Given the description of an element on the screen output the (x, y) to click on. 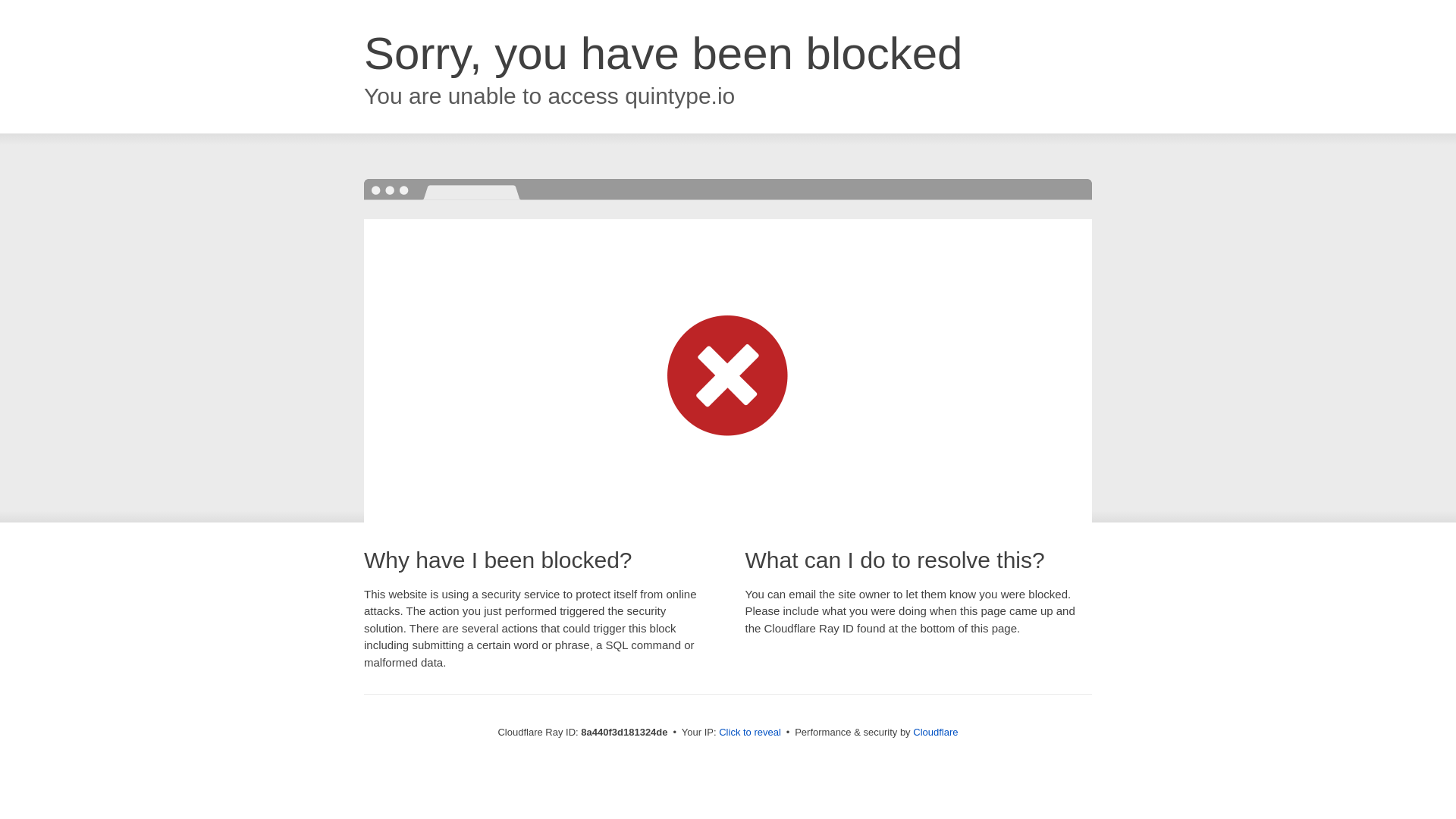
Click to reveal (749, 732)
Cloudflare (935, 731)
